Given the description of an element on the screen output the (x, y) to click on. 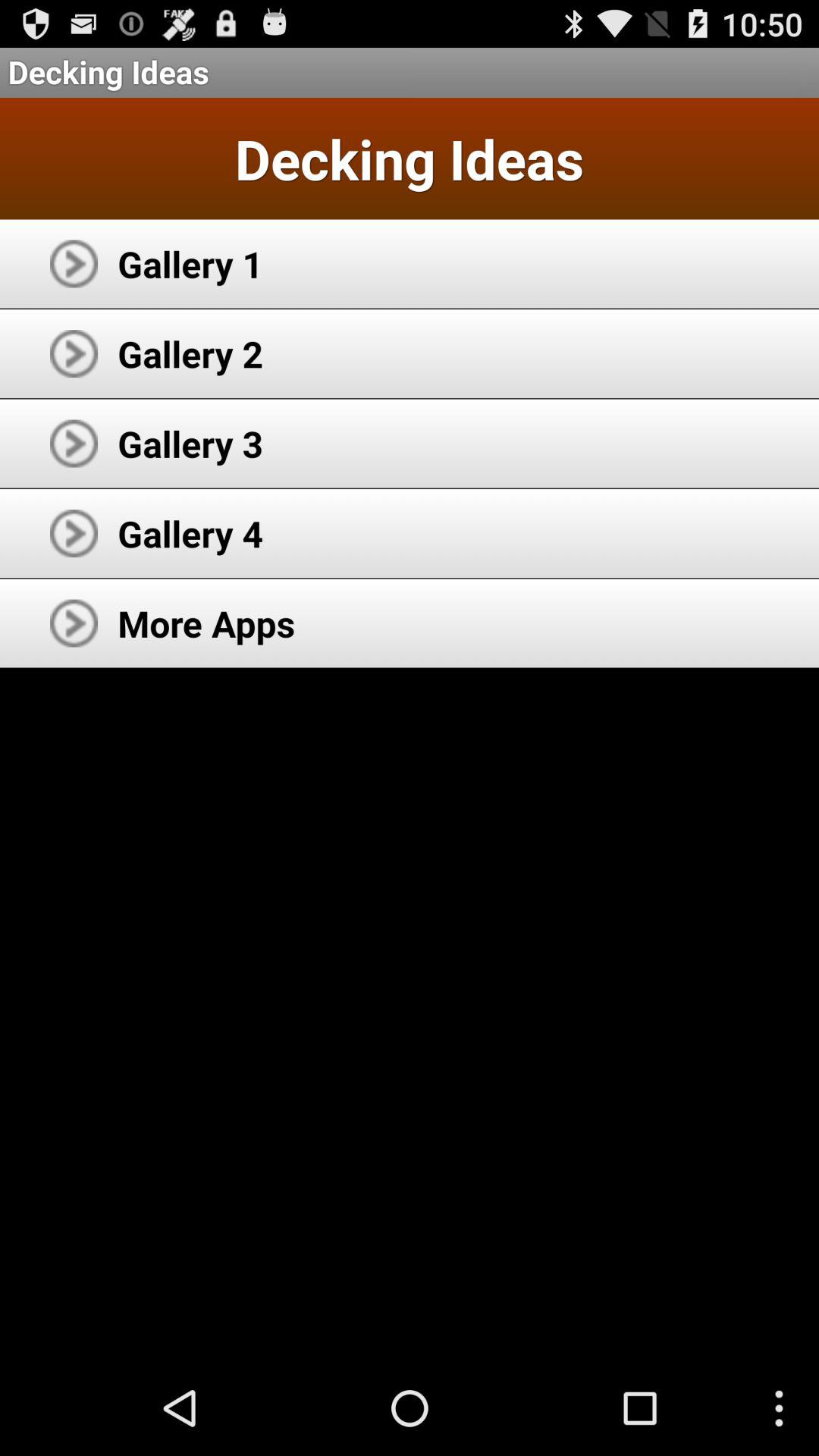
tap more apps app (206, 622)
